Given the description of an element on the screen output the (x, y) to click on. 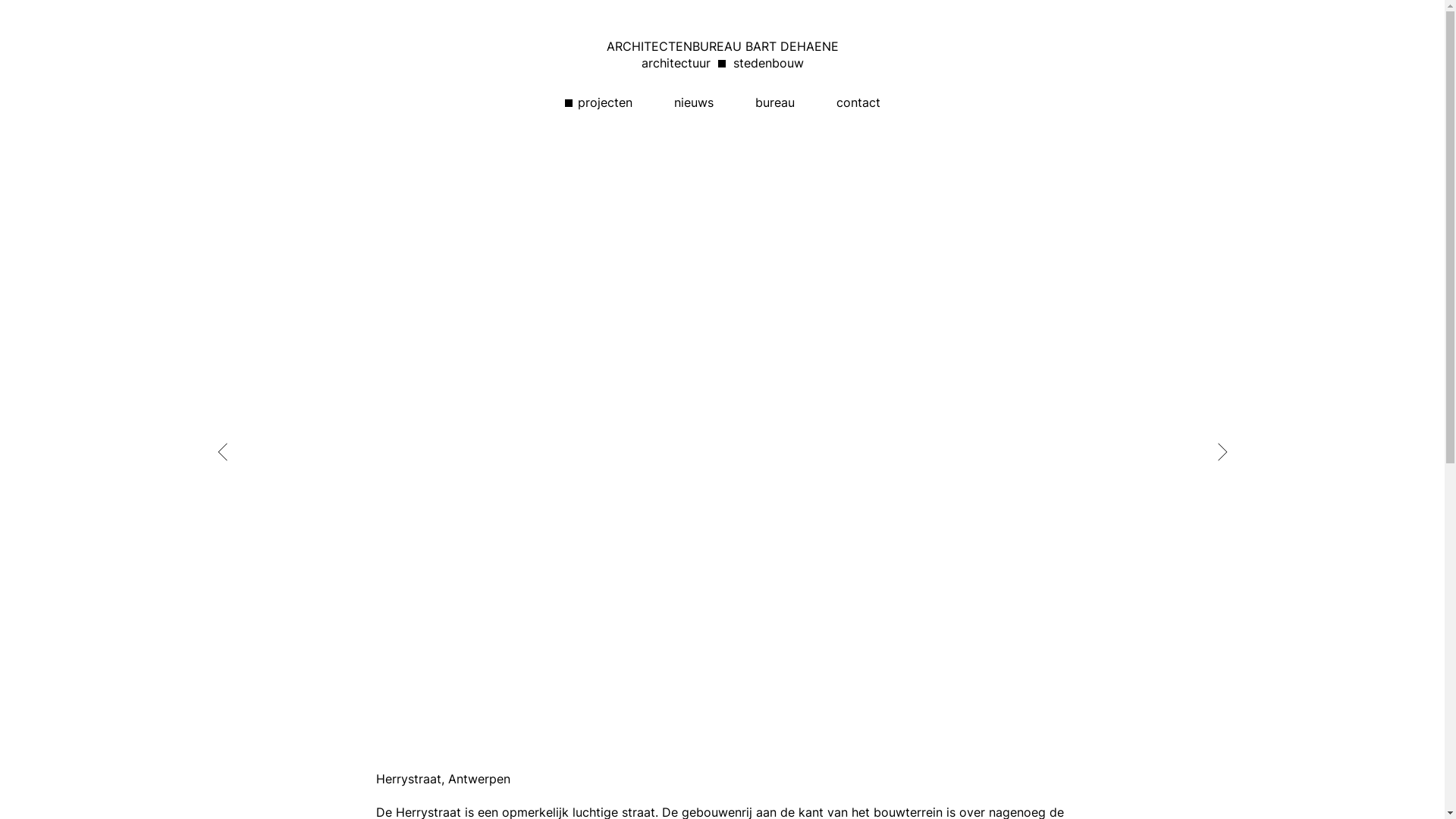
nieuws Element type: text (692, 101)
bureau Element type: text (774, 101)
contact Element type: text (857, 101)
ARCHITECTENBUREAU BART DEHAENE
architectuur    stedenbouw Element type: text (722, 54)
projecten Element type: text (597, 101)
